Given the description of an element on the screen output the (x, y) to click on. 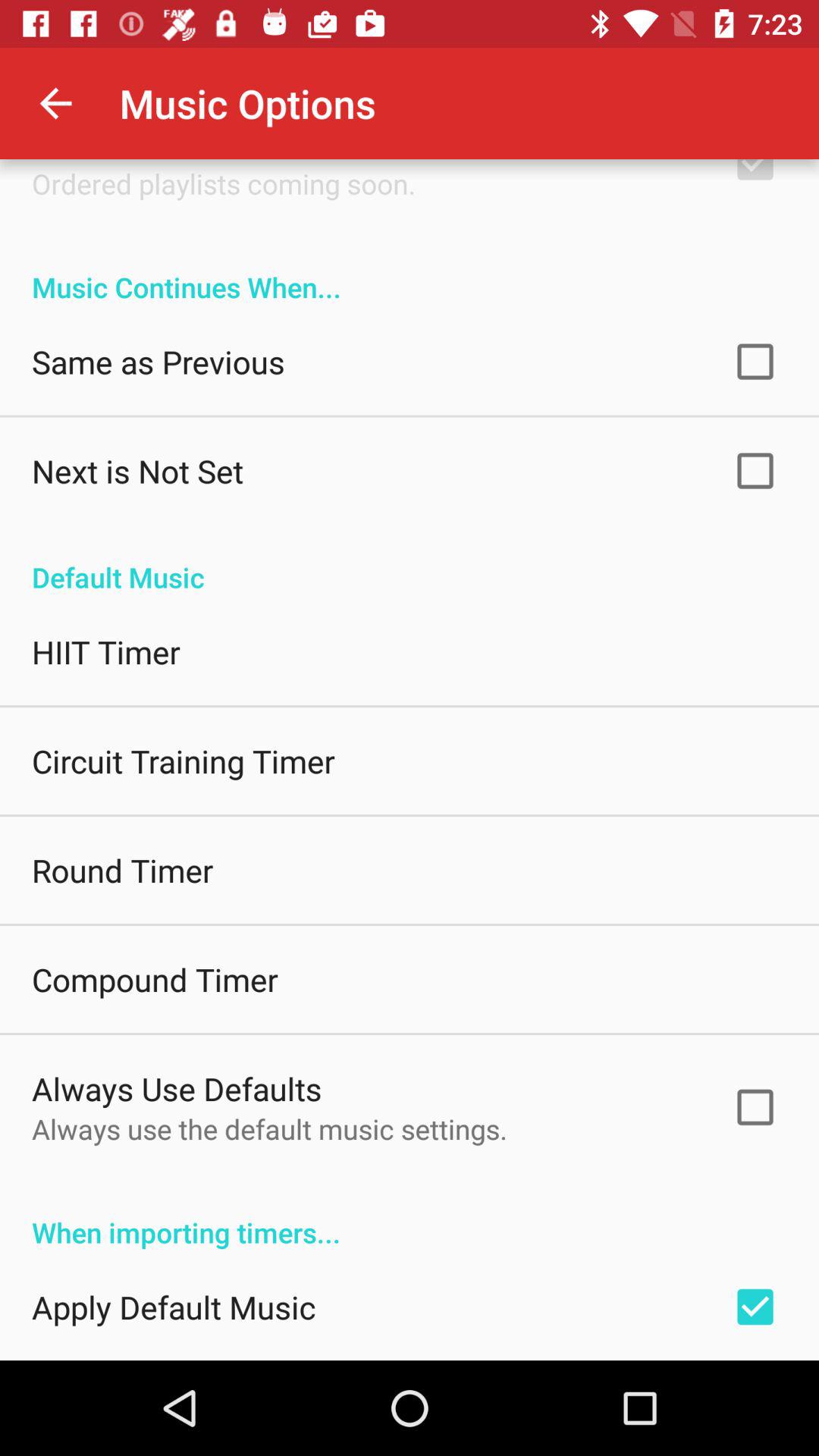
scroll to the compound timer icon (154, 979)
